Given the description of an element on the screen output the (x, y) to click on. 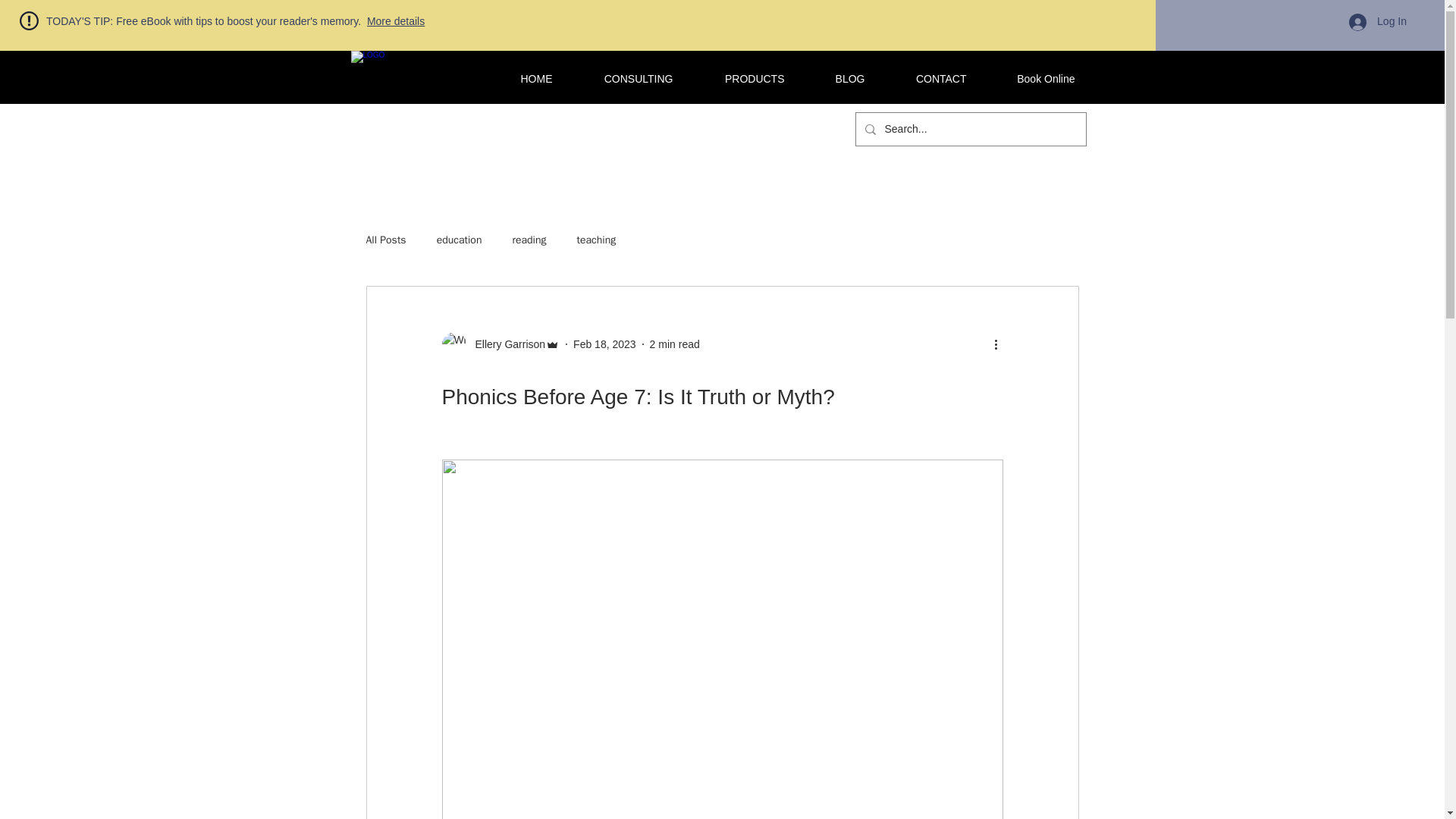
Beige And Blue Minimal Modern Book Store Logo.png (428, 129)
CONTACT (927, 78)
Log In (1377, 22)
All Posts (385, 240)
More details (395, 21)
education (458, 240)
2 min read (674, 344)
Feb 18, 2023 (604, 344)
teaching (595, 240)
Ellery Garrison (504, 344)
BLOG (836, 78)
PRODUCTS (739, 78)
CONSULTING (624, 78)
reading (529, 240)
HOME (522, 78)
